Given the description of an element on the screen output the (x, y) to click on. 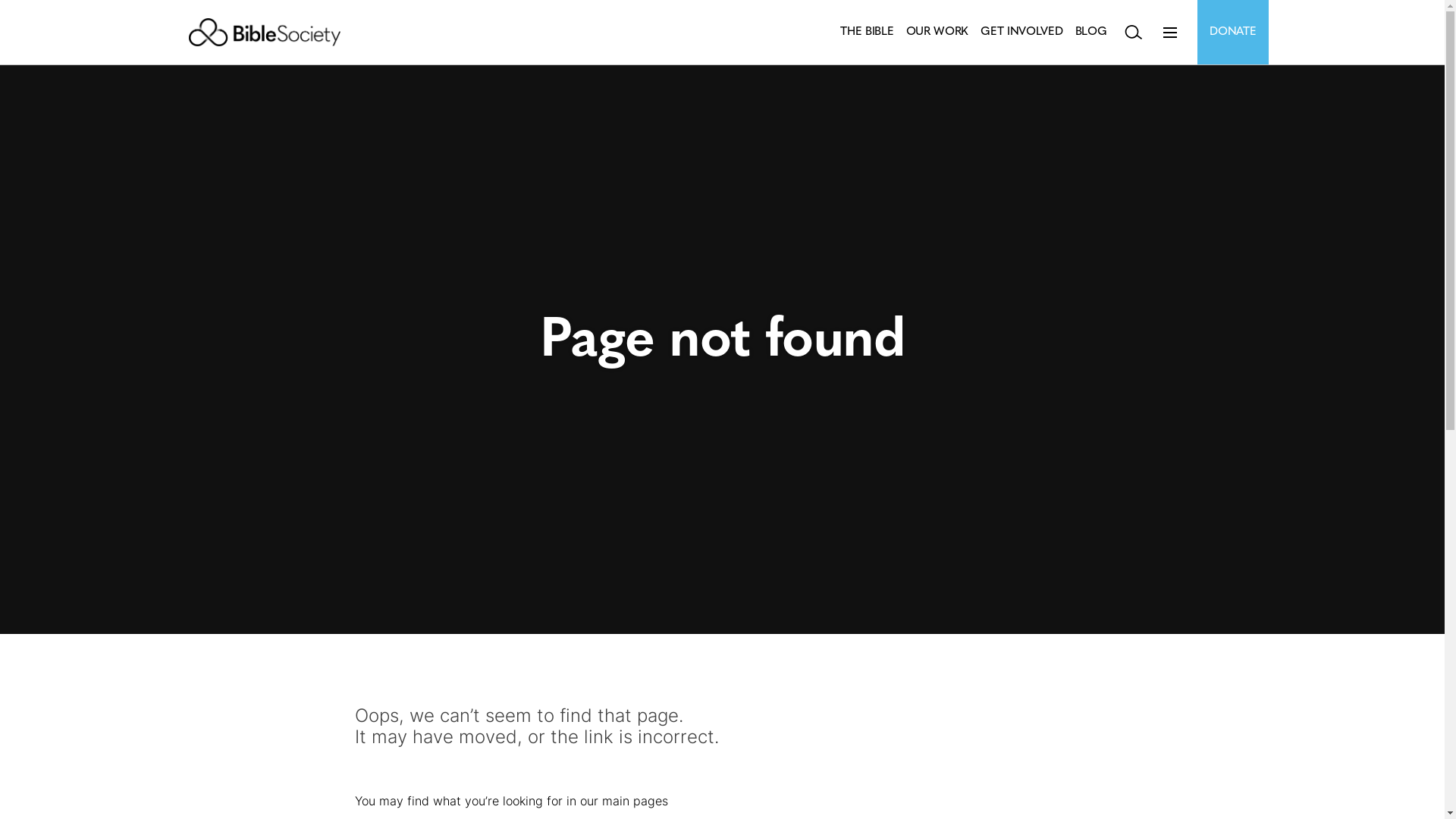
THE BIBLE Element type: text (866, 32)
DONATE Element type: text (1232, 32)
Return to the Bible Society Homepage Element type: hover (263, 32)
GET INVOLVED Element type: text (1021, 32)
BLOG Element type: text (1091, 32)
OUR WORK Element type: text (937, 32)
